Given the description of an element on the screen output the (x, y) to click on. 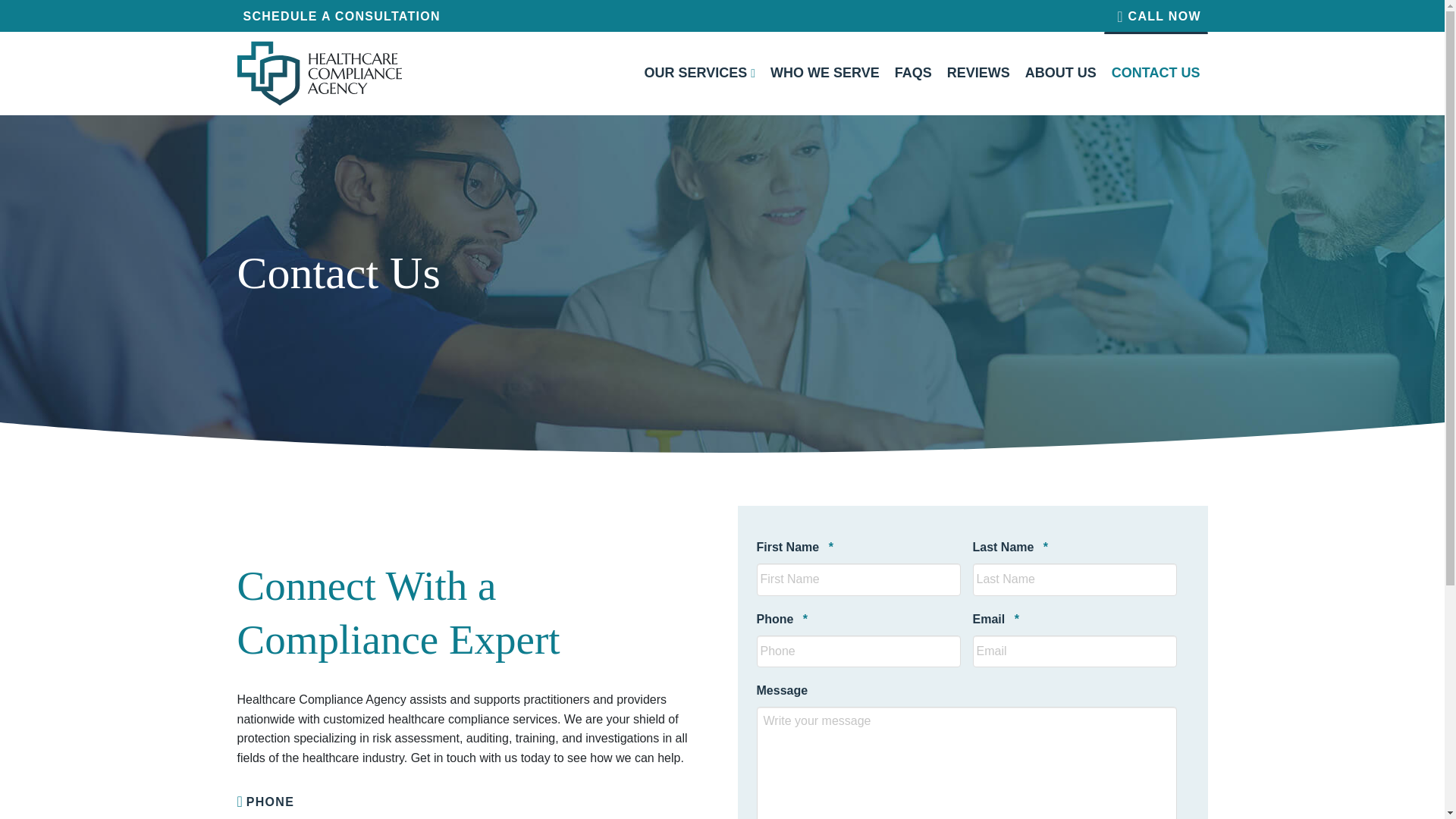
FAQS (912, 73)
CALL NOW (1158, 15)
OUR SERVICES (699, 73)
ABOUT US (1060, 73)
CONTACT US (1155, 73)
SCHEDULE A CONSULTATION (340, 15)
REVIEWS (978, 73)
469-774-7144 (274, 817)
WHO WE SERVE (824, 73)
